Given the description of an element on the screen output the (x, y) to click on. 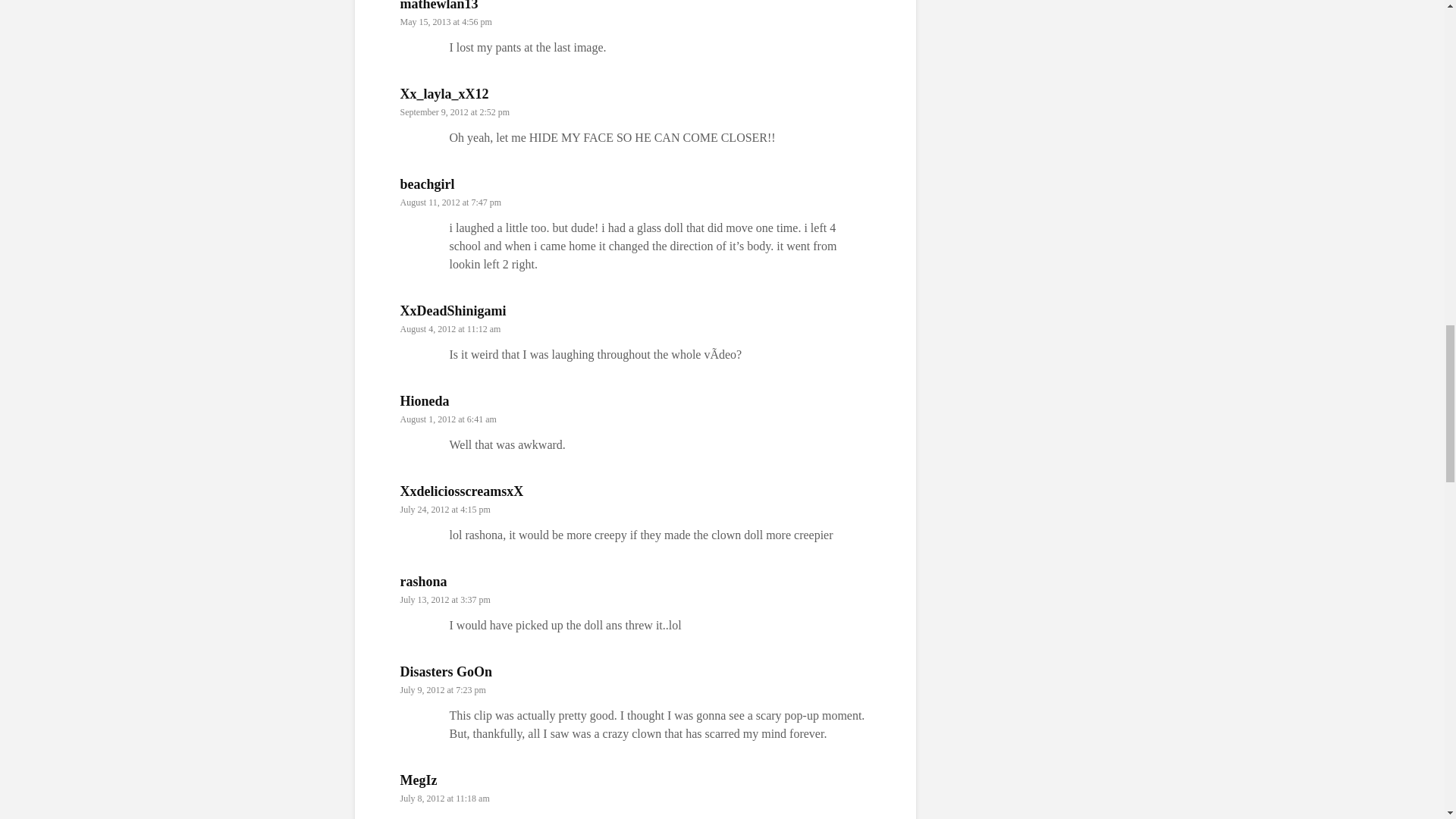
September 9, 2012 at 2:52 pm (455, 111)
May 15, 2013 at 4:56 pm (446, 21)
July 24, 2012 at 4:15 pm (445, 508)
August 4, 2012 at 11:12 am (450, 327)
August 1, 2012 at 6:41 am (448, 419)
July 13, 2012 at 3:37 pm (445, 599)
August 11, 2012 at 7:47 pm (451, 202)
